Given the description of an element on the screen output the (x, y) to click on. 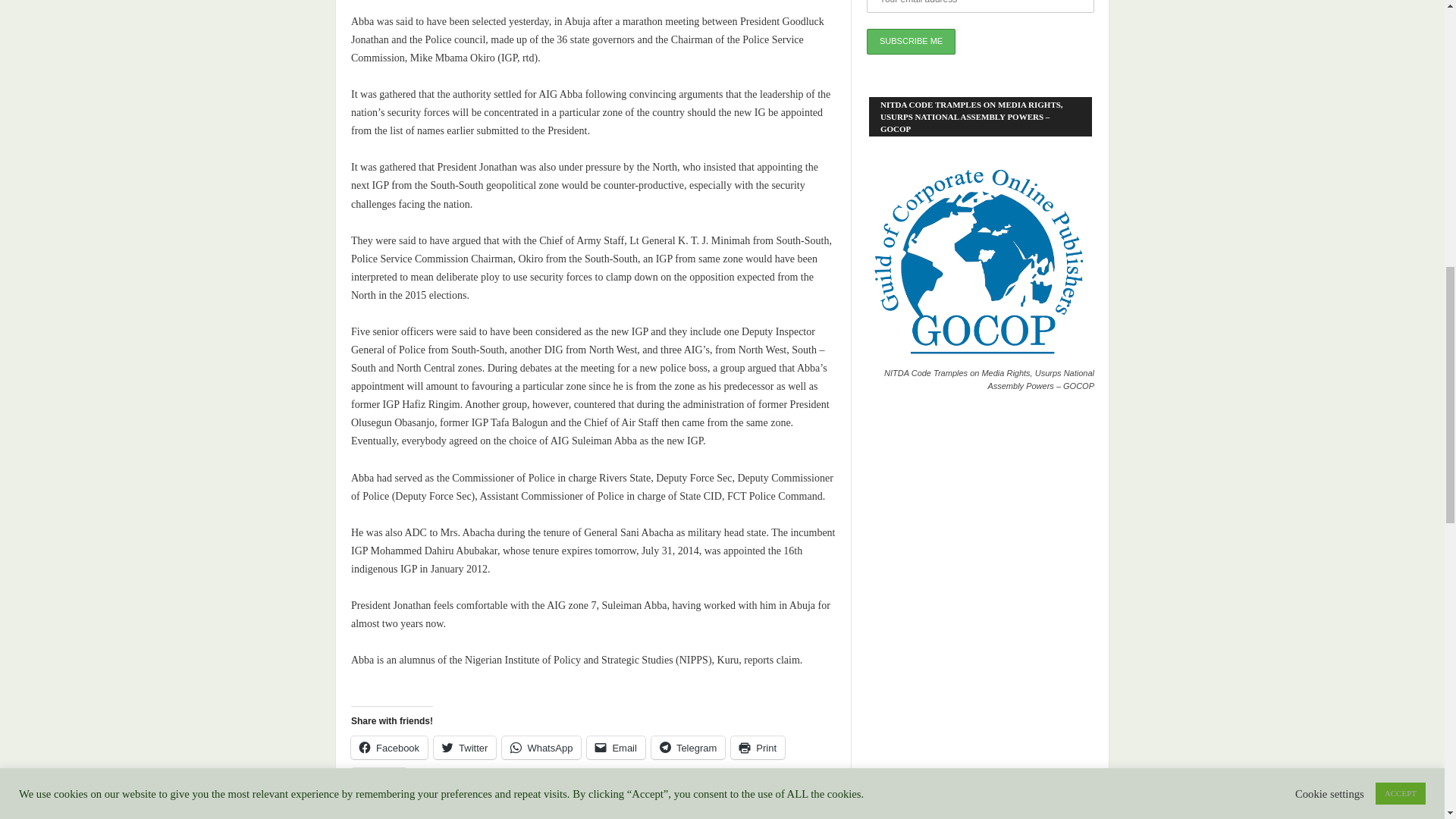
SUBSCRIBE ME (910, 41)
